Given the description of an element on the screen output the (x, y) to click on. 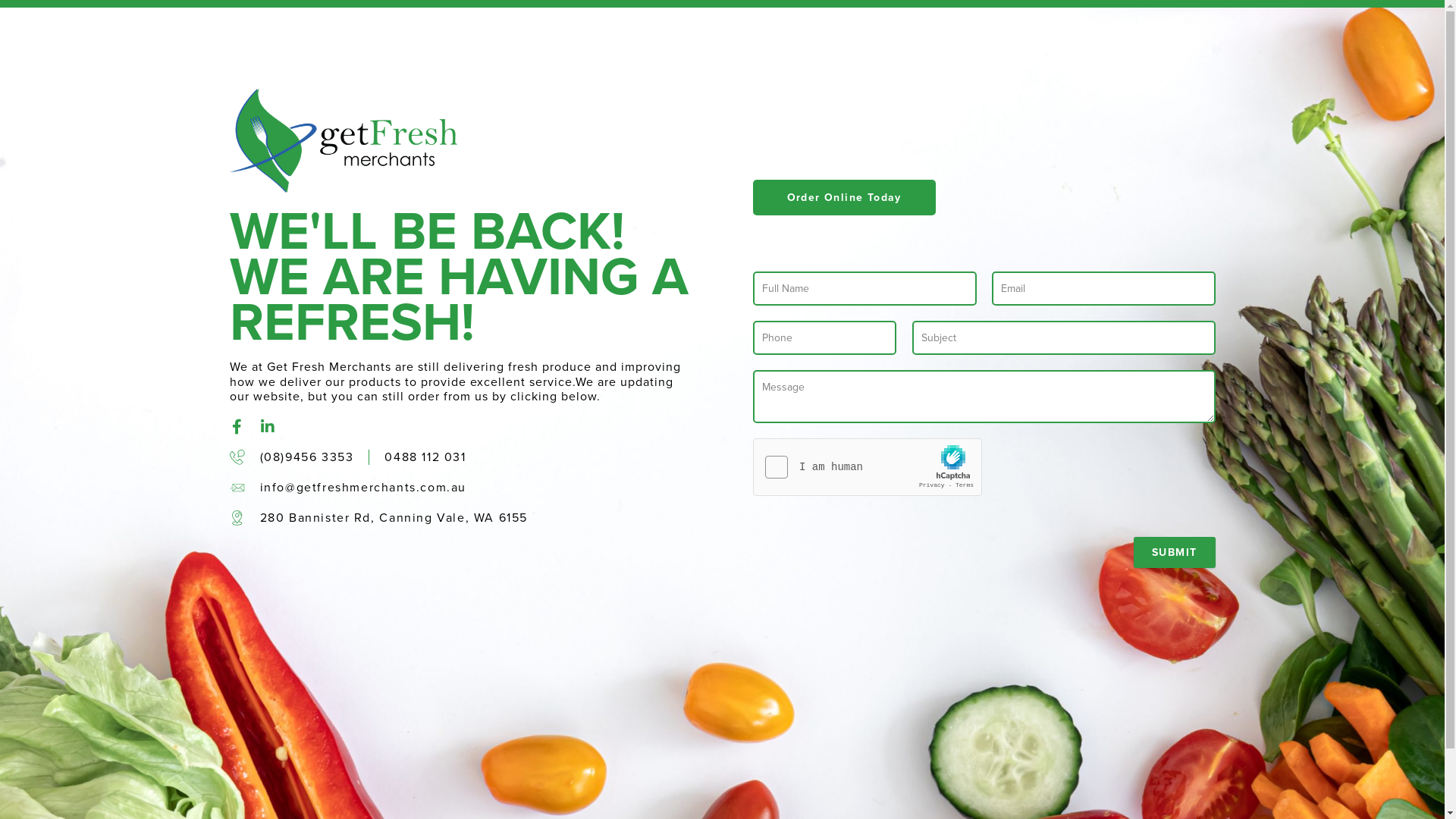
Widget containing checkbox for hCaptcha security challenge Element type: hover (867, 467)
0488 112 031 Element type: text (424, 456)
info@getfreshmerchants.com.au Element type: text (362, 486)
SUBMIT Element type: text (1173, 551)
Order Online Today Element type: text (843, 197)
(08)9456 3353 Element type: text (306, 456)
